Given the description of an element on the screen output the (x, y) to click on. 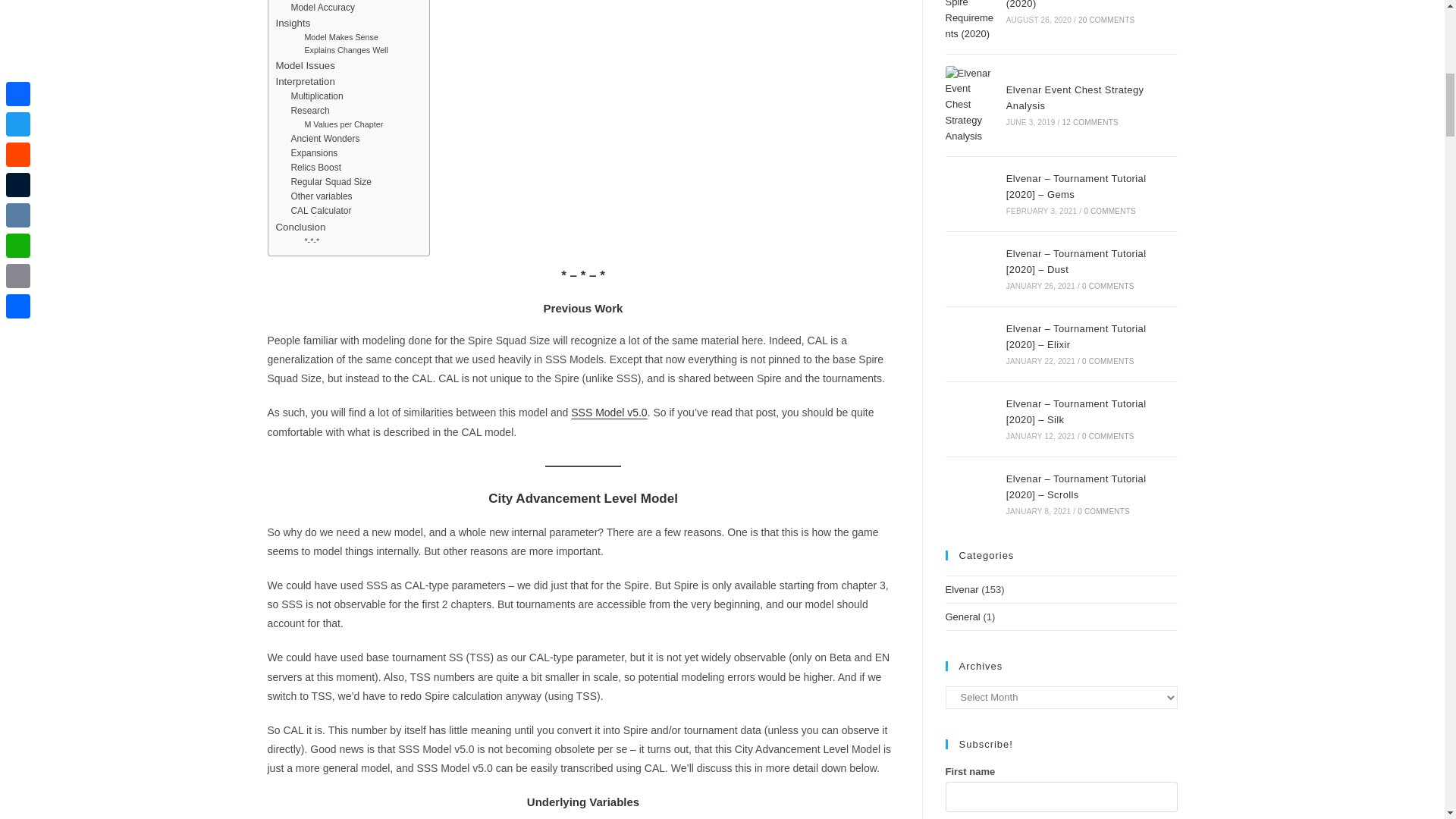
Insights (293, 23)
Model Accuracy (321, 7)
Model Makes Sense (341, 37)
